Given the description of an element on the screen output the (x, y) to click on. 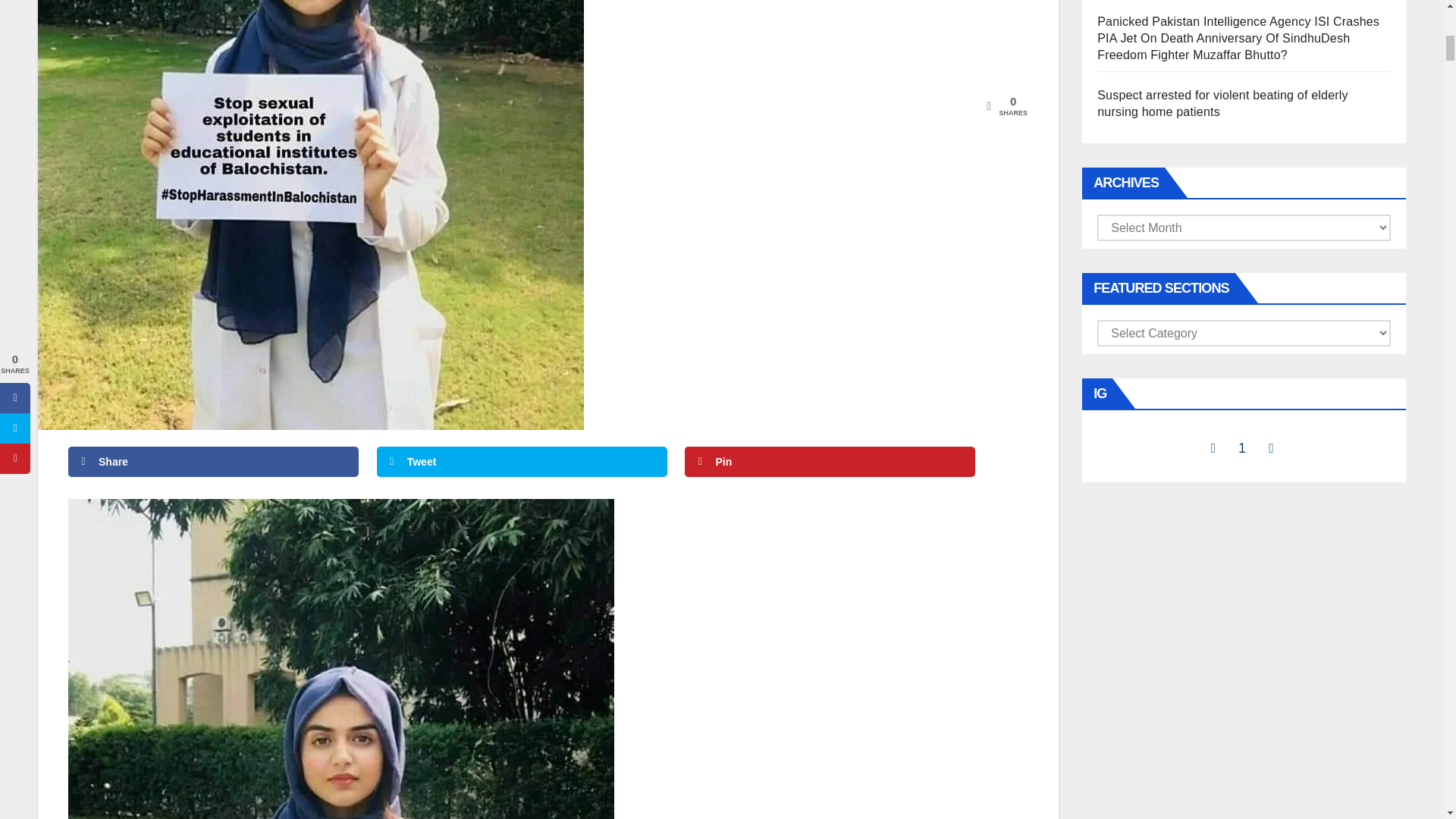
Pin (829, 461)
Tweet (521, 461)
Share on Facebook (213, 461)
Save to Pinterest (829, 461)
Share on Twitter (521, 461)
Share (213, 461)
